Given the description of an element on the screen output the (x, y) to click on. 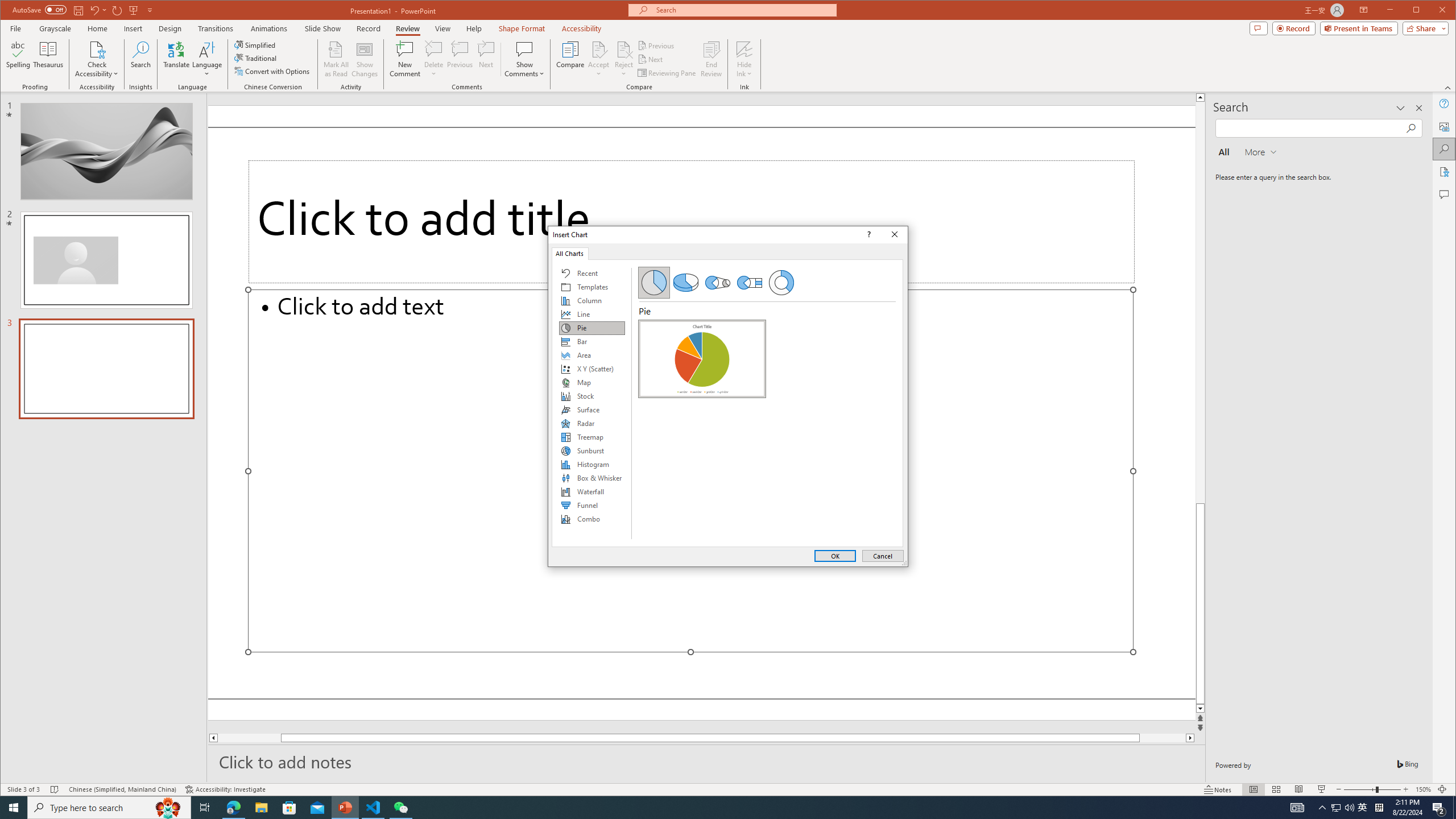
Bar (591, 341)
All Charts (569, 253)
Show Comments (524, 59)
Show Changes (365, 59)
Bar of Pie (749, 282)
Q2790: 100% (1349, 807)
Funnel (591, 505)
Translate (175, 59)
Traditional (256, 57)
Check Accessibility (96, 59)
Slide Notes (706, 761)
